Given the description of an element on the screen output the (x, y) to click on. 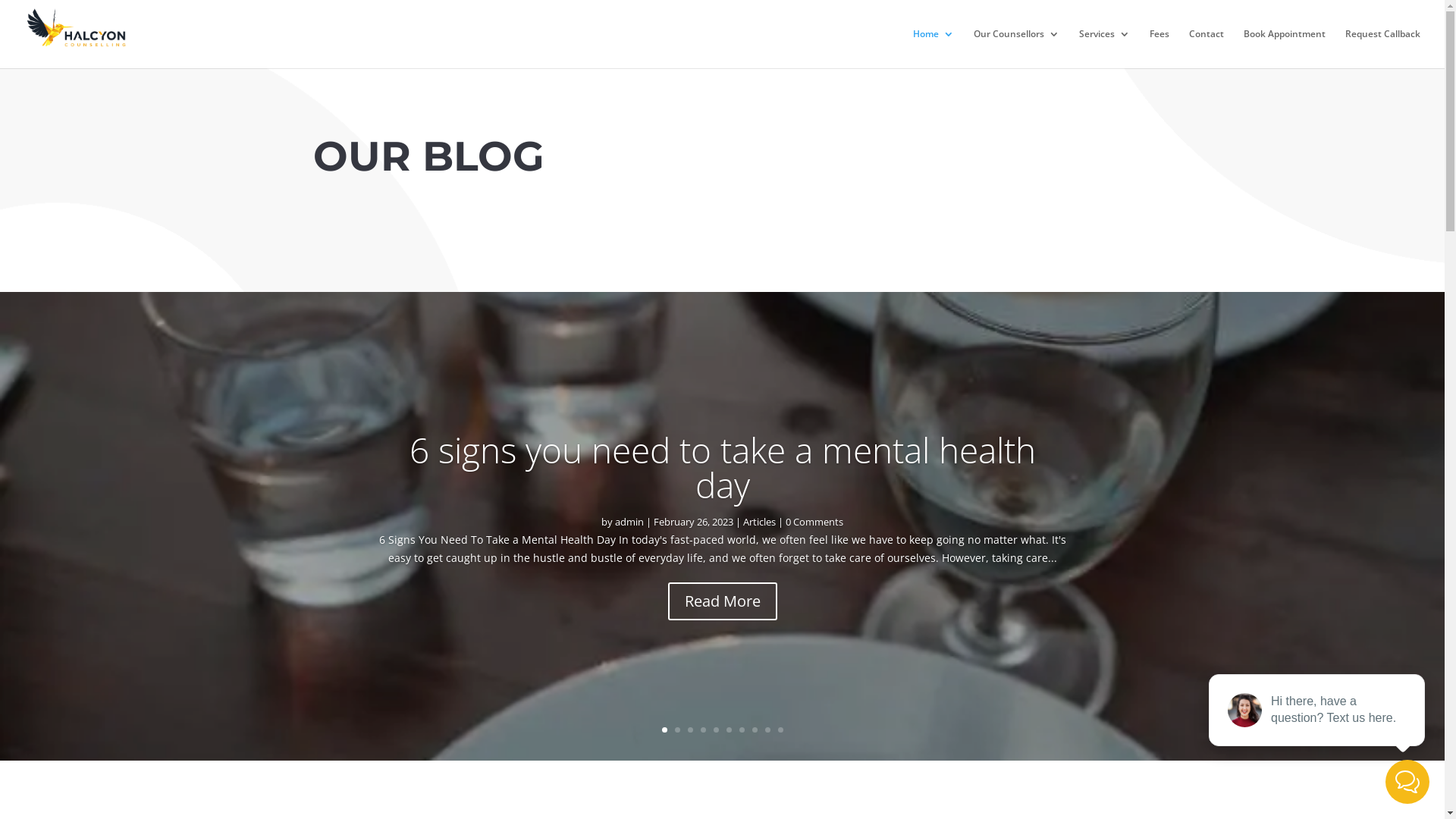
Contact Element type: text (1206, 48)
Services Element type: text (1104, 48)
5 Element type: text (715, 729)
Articles Element type: text (759, 521)
6 signs you need to take a mental health day Element type: text (722, 467)
Fees Element type: text (1159, 48)
Home Element type: text (933, 48)
Read More Element type: text (721, 601)
Request Callback Element type: text (1382, 48)
7 Element type: text (740, 729)
1 Element type: text (663, 729)
4 Element type: text (703, 729)
2 Element type: text (677, 729)
8 Element type: text (754, 729)
6 Element type: text (728, 729)
9 Element type: text (766, 729)
admin Element type: text (629, 521)
Our Counsellors Element type: text (1016, 48)
10 Element type: text (780, 729)
3 Element type: text (689, 729)
Book Appointment Element type: text (1284, 48)
